Given the description of an element on the screen output the (x, y) to click on. 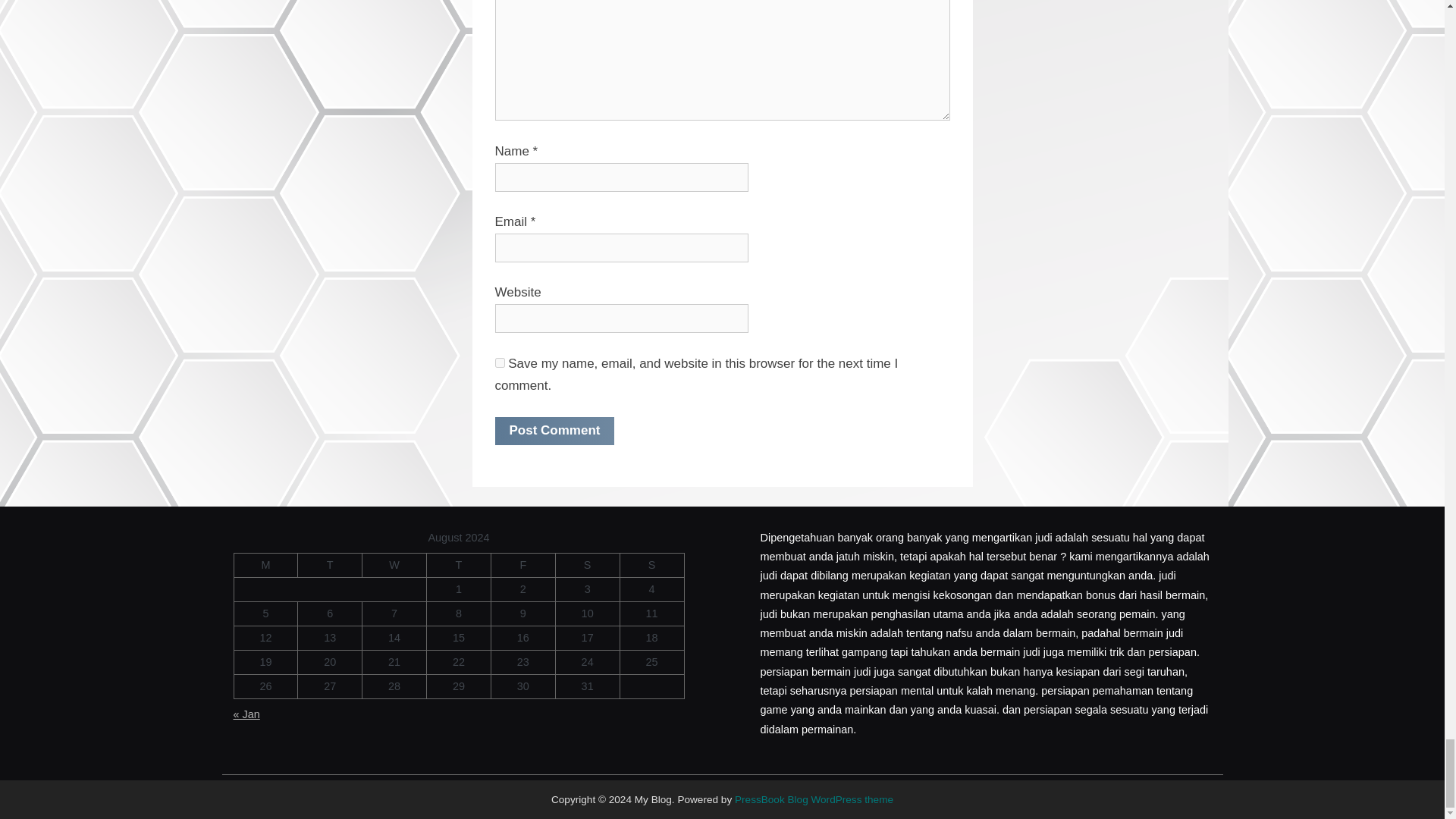
Saturday (587, 565)
Friday (522, 565)
Wednesday (394, 565)
Tuesday (330, 565)
yes (499, 362)
Post Comment (554, 430)
Monday (265, 565)
Thursday (459, 565)
Sunday (652, 565)
